Given the description of an element on the screen output the (x, y) to click on. 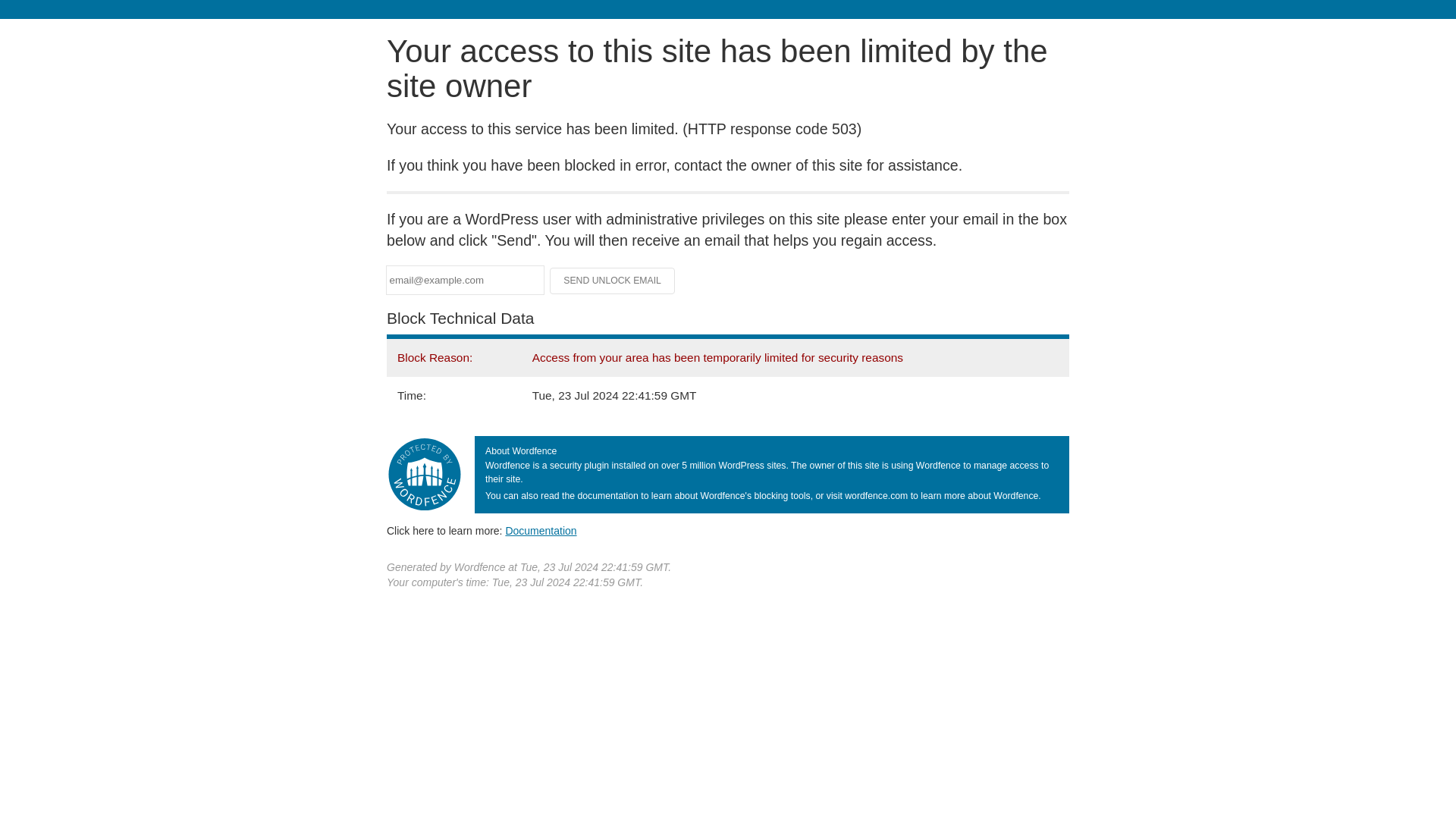
Send Unlock Email (612, 280)
Send Unlock Email (612, 280)
